Given the description of an element on the screen output the (x, y) to click on. 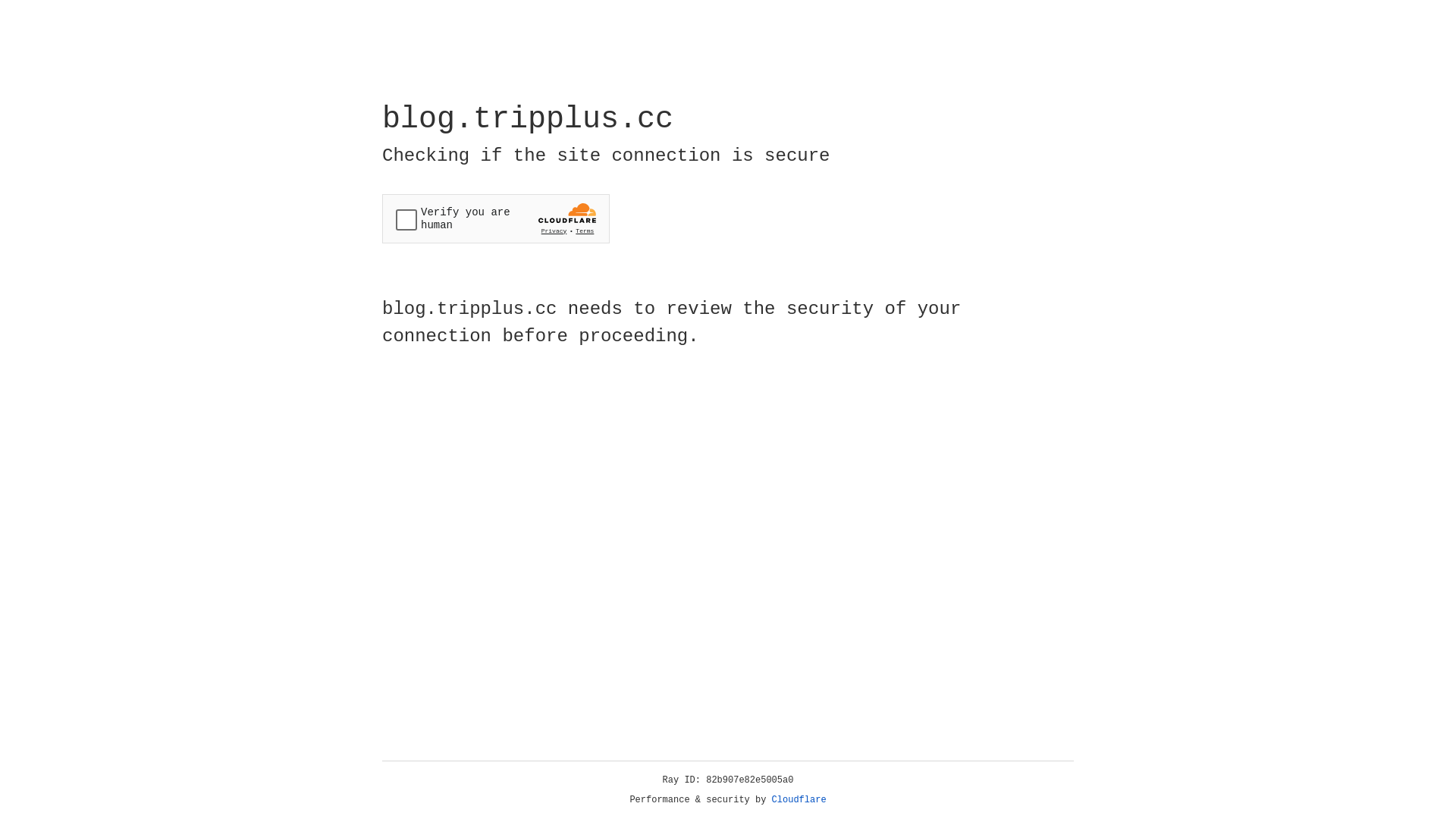
Widget containing a Cloudflare security challenge Element type: hover (495, 218)
Cloudflare Element type: text (798, 799)
